Given the description of an element on the screen output the (x, y) to click on. 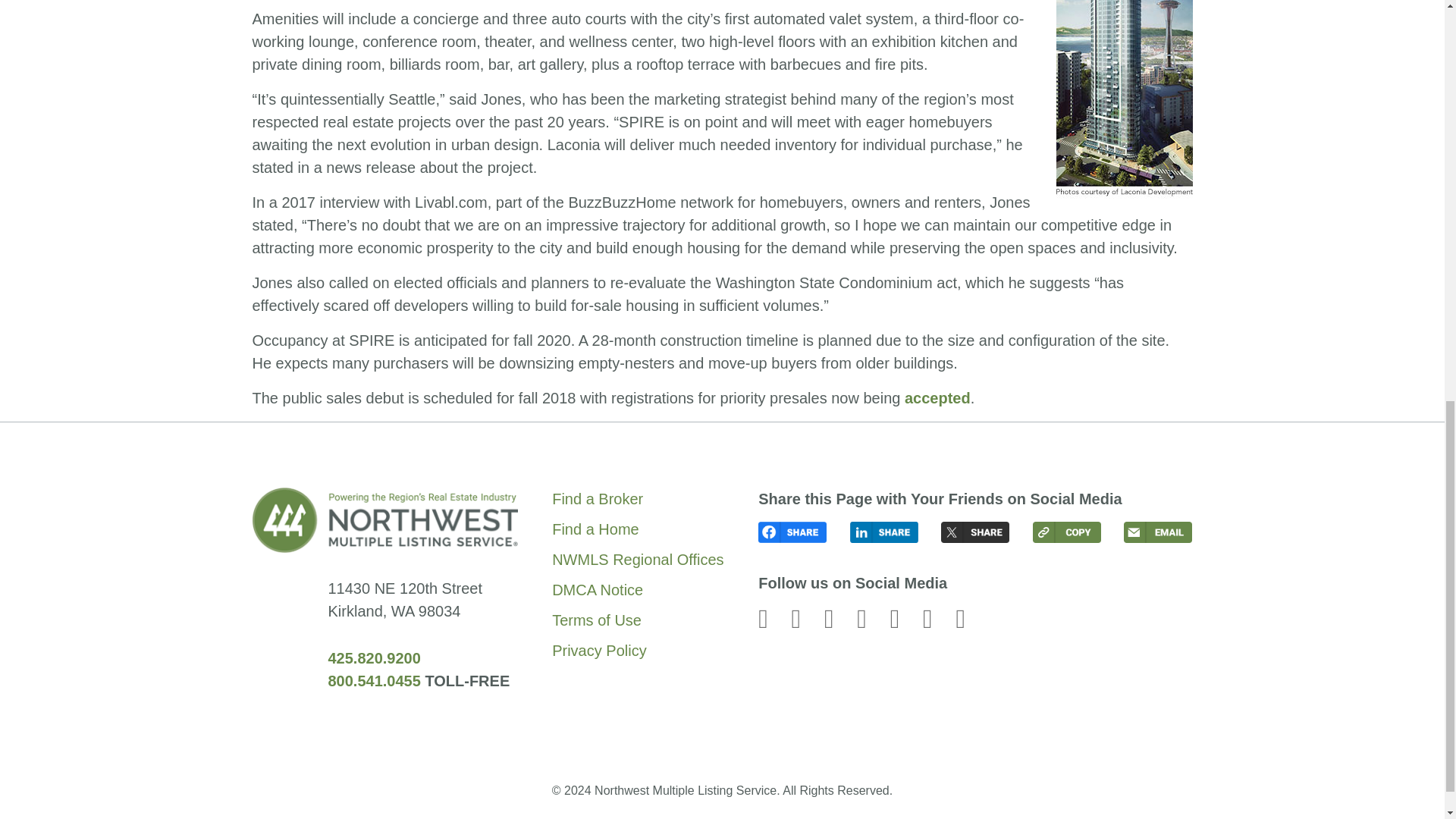
accepted (937, 397)
Find a Home (637, 528)
DMCA Notice (637, 589)
425.820.9200 (373, 658)
800.541.0455 (373, 680)
Privacy Policy (637, 650)
Terms of Use (637, 620)
Find a Home (637, 528)
Find a Broker (637, 498)
Find a Broker (637, 498)
